Given the description of an element on the screen output the (x, y) to click on. 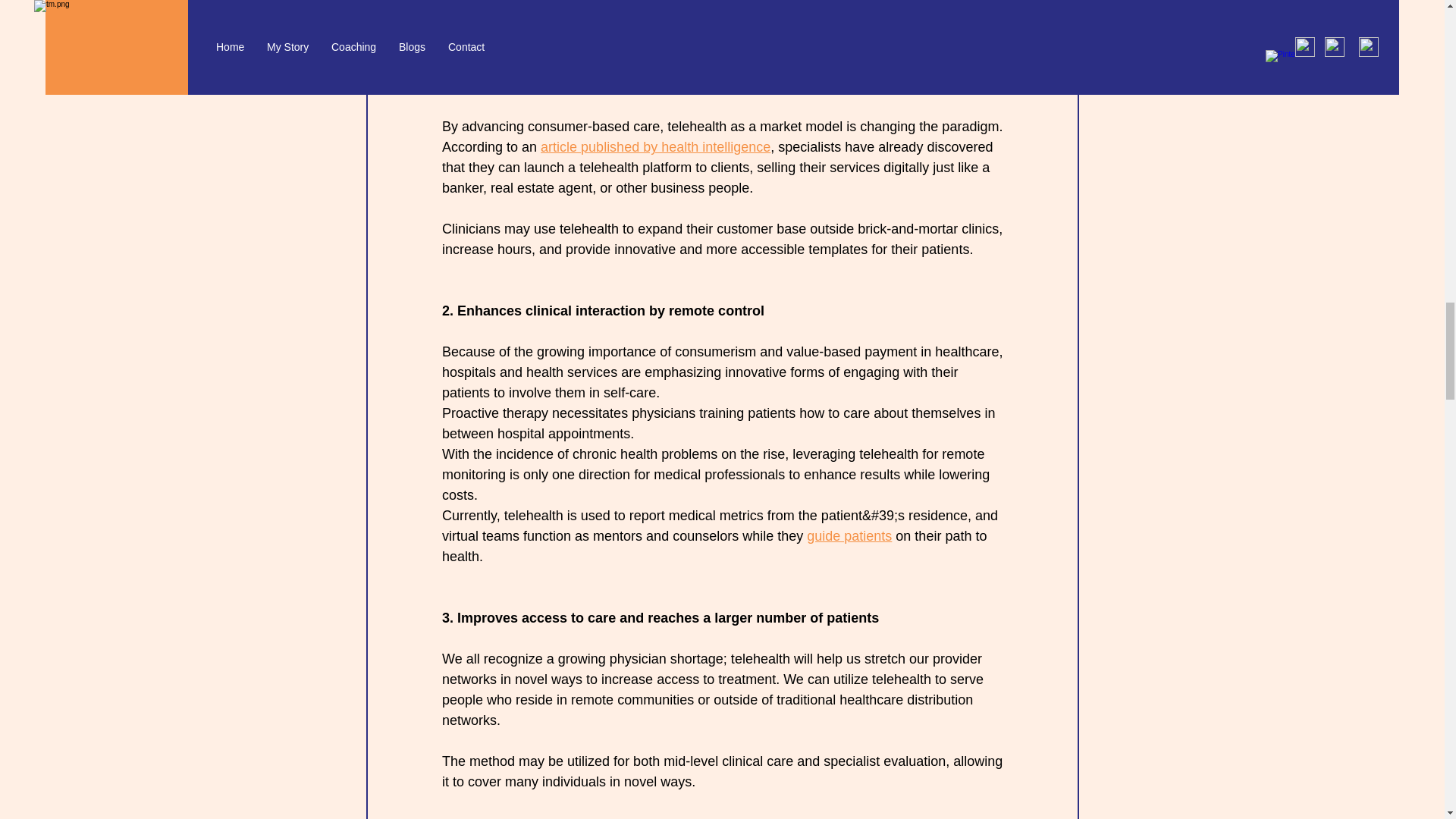
article published by health intelligence (655, 146)
guide patients (848, 535)
